Given the description of an element on the screen output the (x, y) to click on. 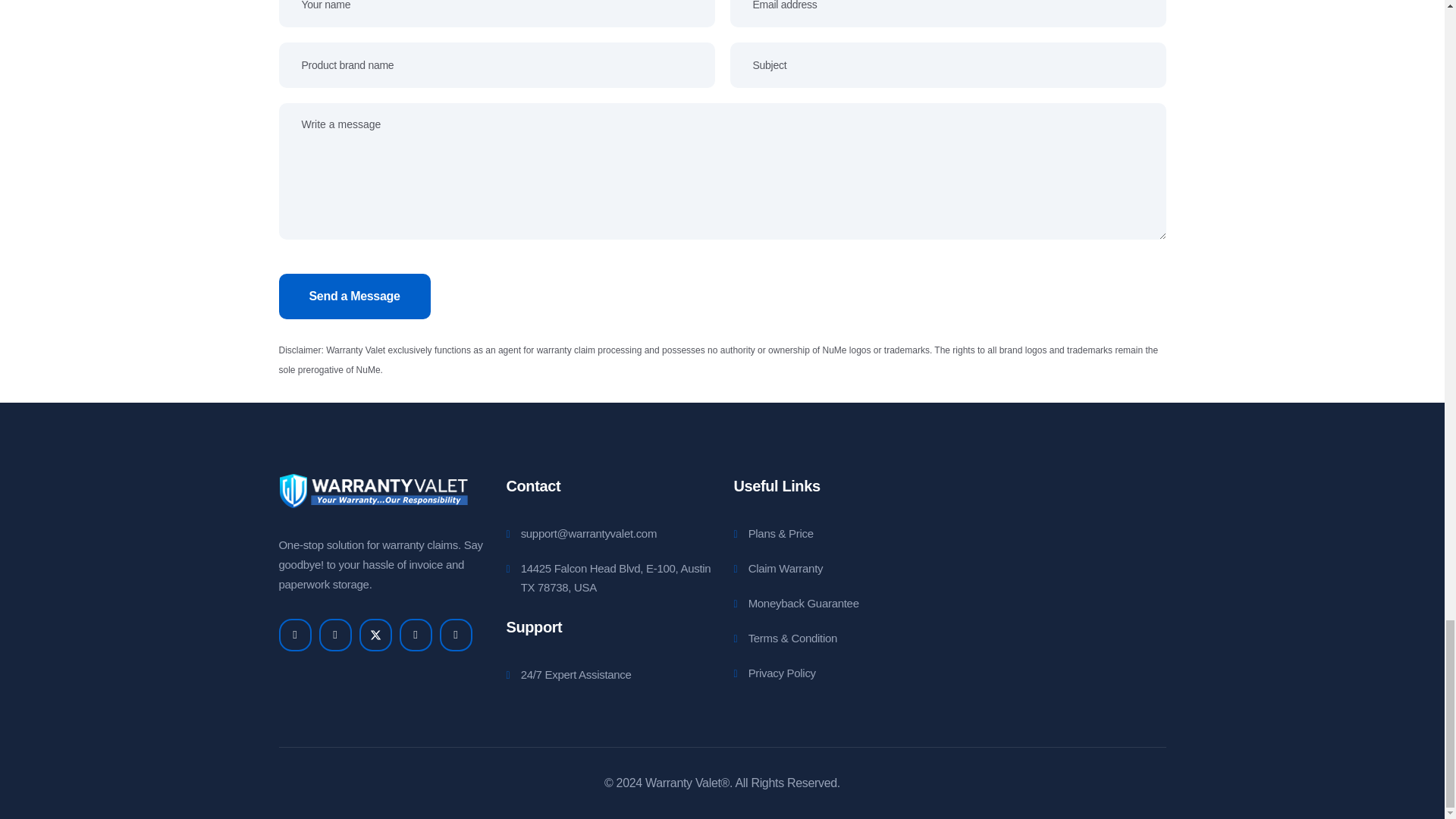
Send a Message (354, 296)
